Given the description of an element on the screen output the (x, y) to click on. 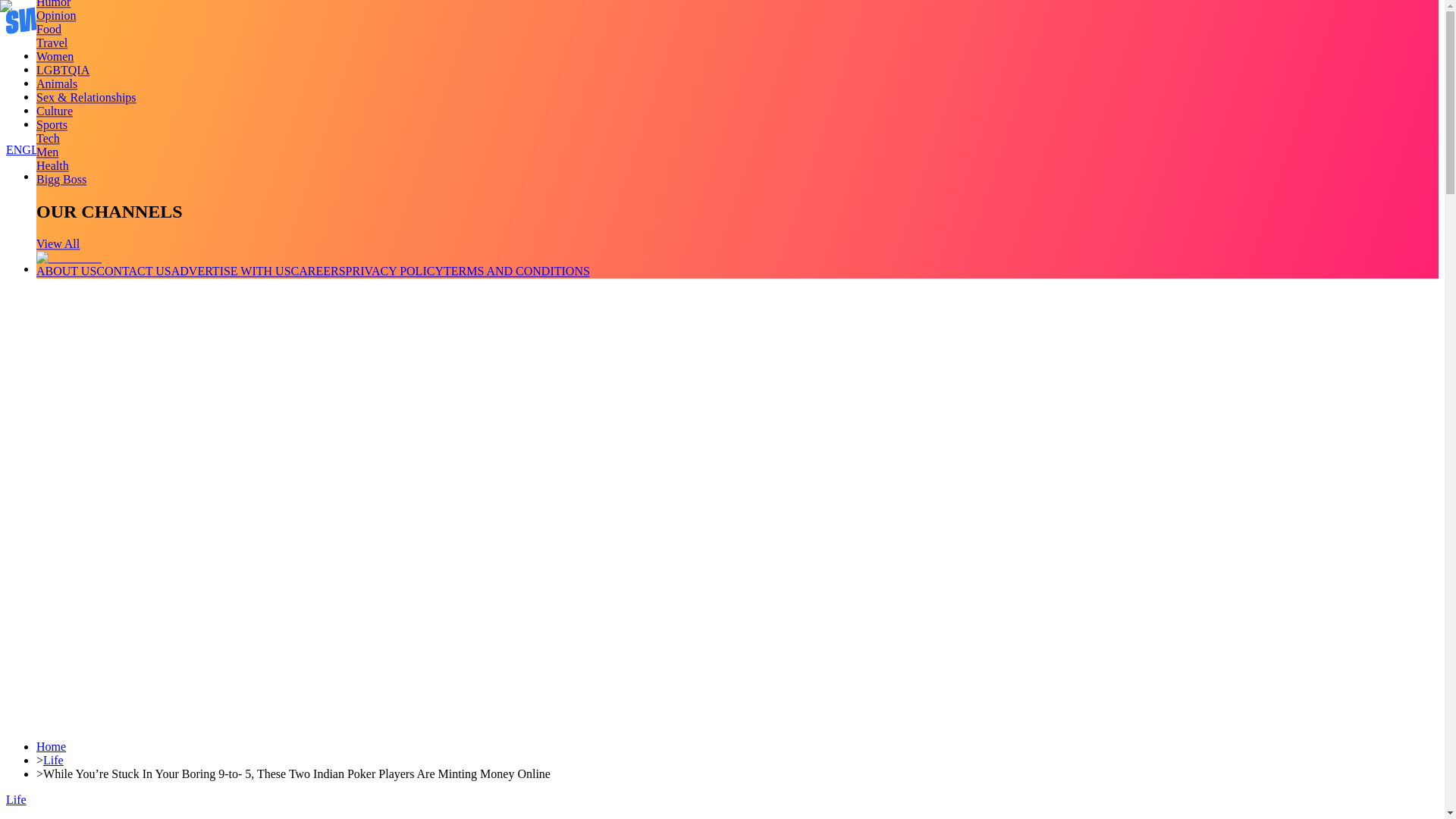
Tech (47, 137)
Spotlight (58, 123)
LGBTQIA (62, 69)
Quizzes (55, 96)
Health (52, 164)
Culture (54, 110)
Women (55, 56)
CONTACT US (133, 270)
Men (47, 151)
Memes (53, 110)
